Given the description of an element on the screen output the (x, y) to click on. 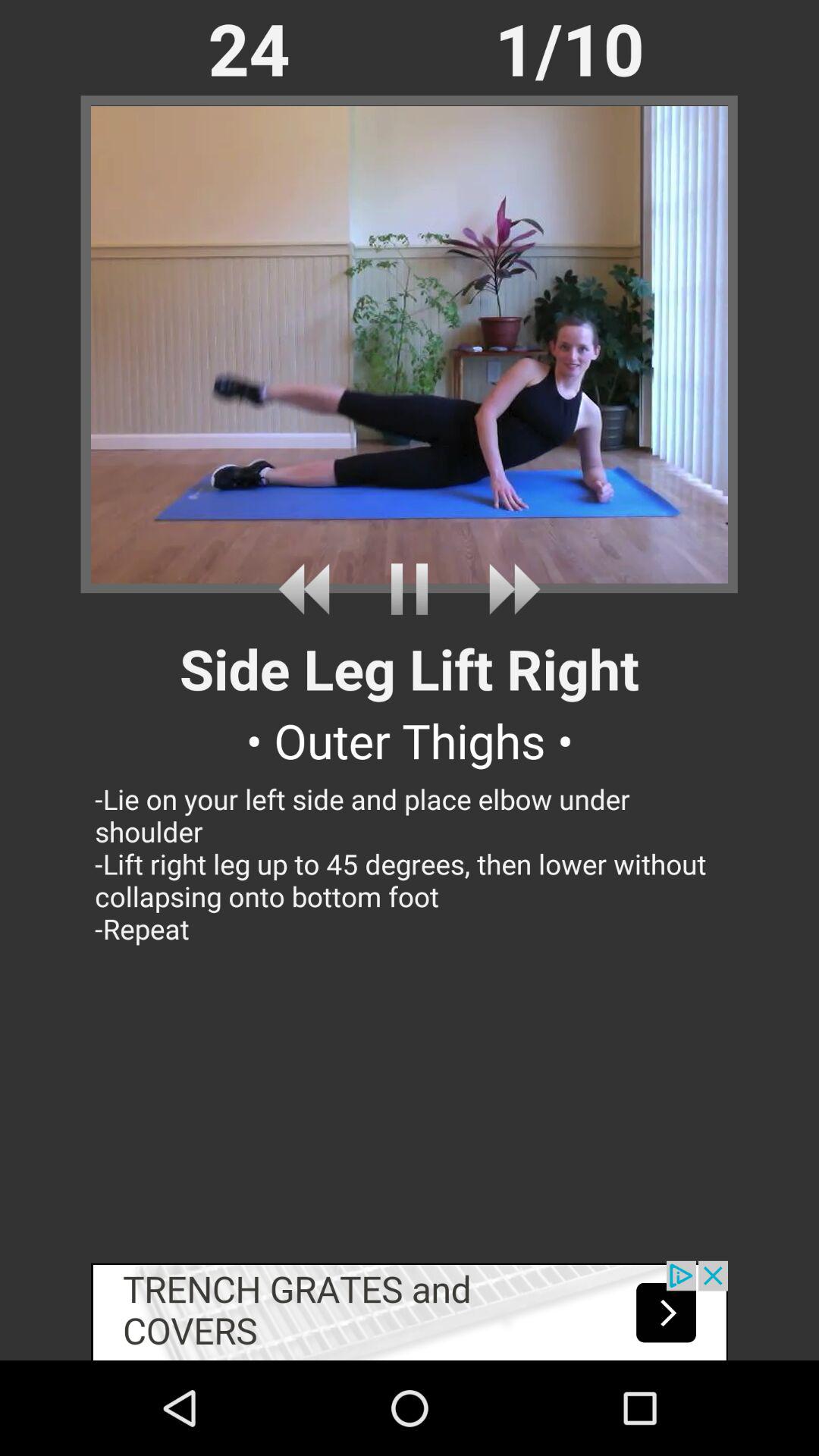
go to frand (309, 589)
